Given the description of an element on the screen output the (x, y) to click on. 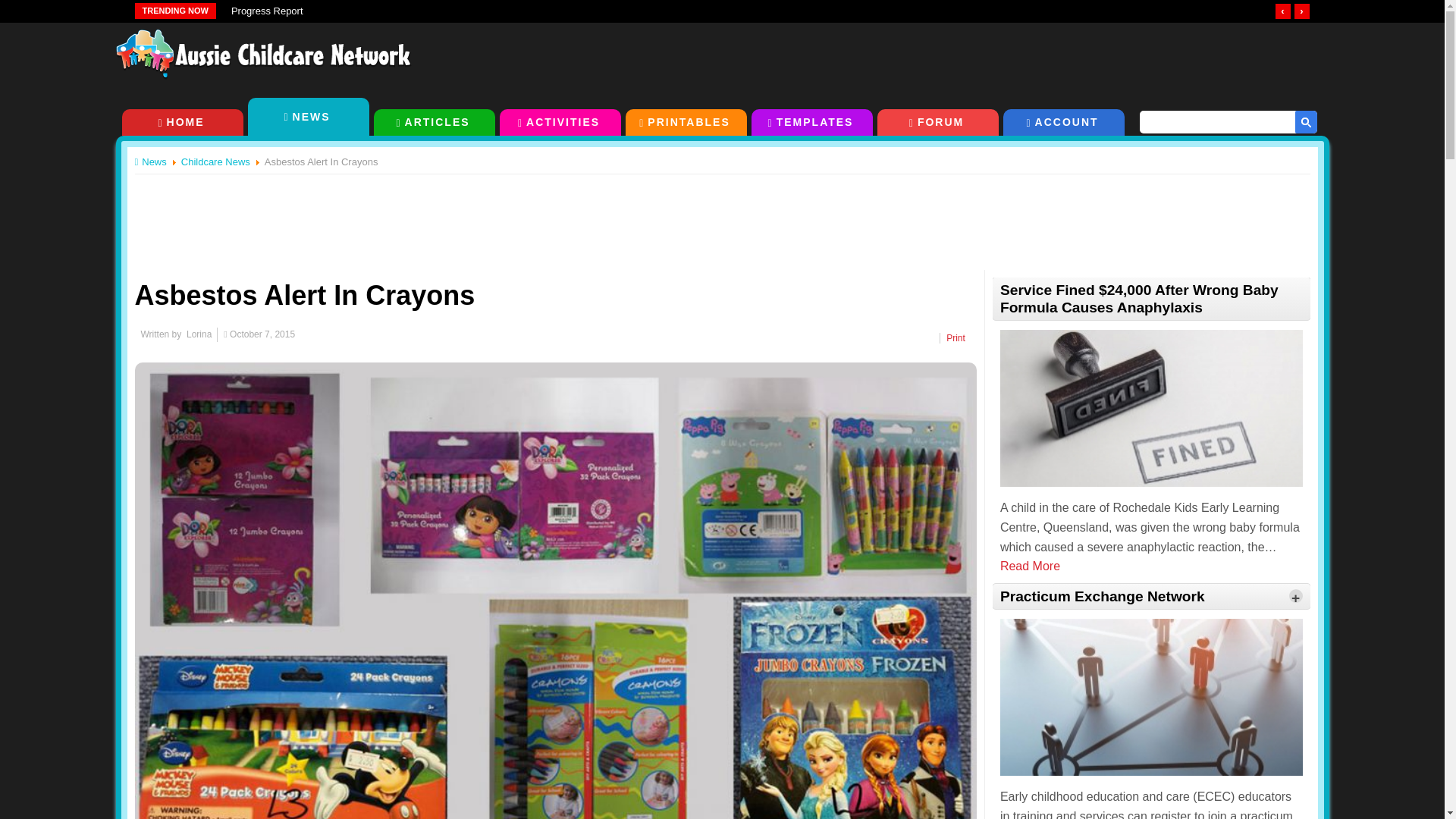
PRINTABLES (684, 121)
TEMPLATES (811, 121)
HOME (181, 121)
Progress Report (266, 10)
ARTICLES (433, 121)
NEWS (307, 116)
Advertisement (721, 213)
Advertisement (984, 59)
ACCOUNT (1063, 121)
Print (955, 337)
ACTIVITIES (559, 121)
Read More (1029, 565)
FORUM (936, 121)
Childcare News (215, 161)
News (154, 161)
